Given the description of an element on the screen output the (x, y) to click on. 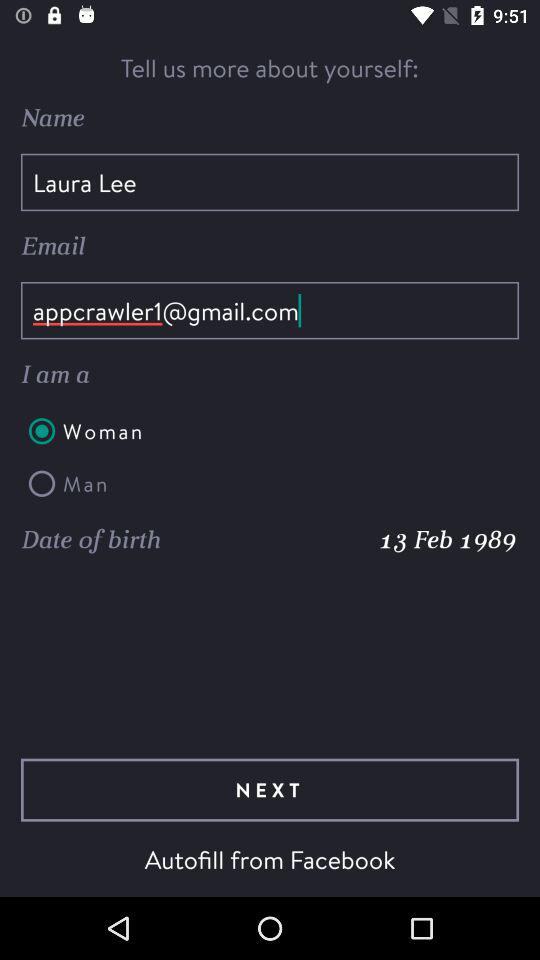
press the item above email (269, 182)
